Given the description of an element on the screen output the (x, y) to click on. 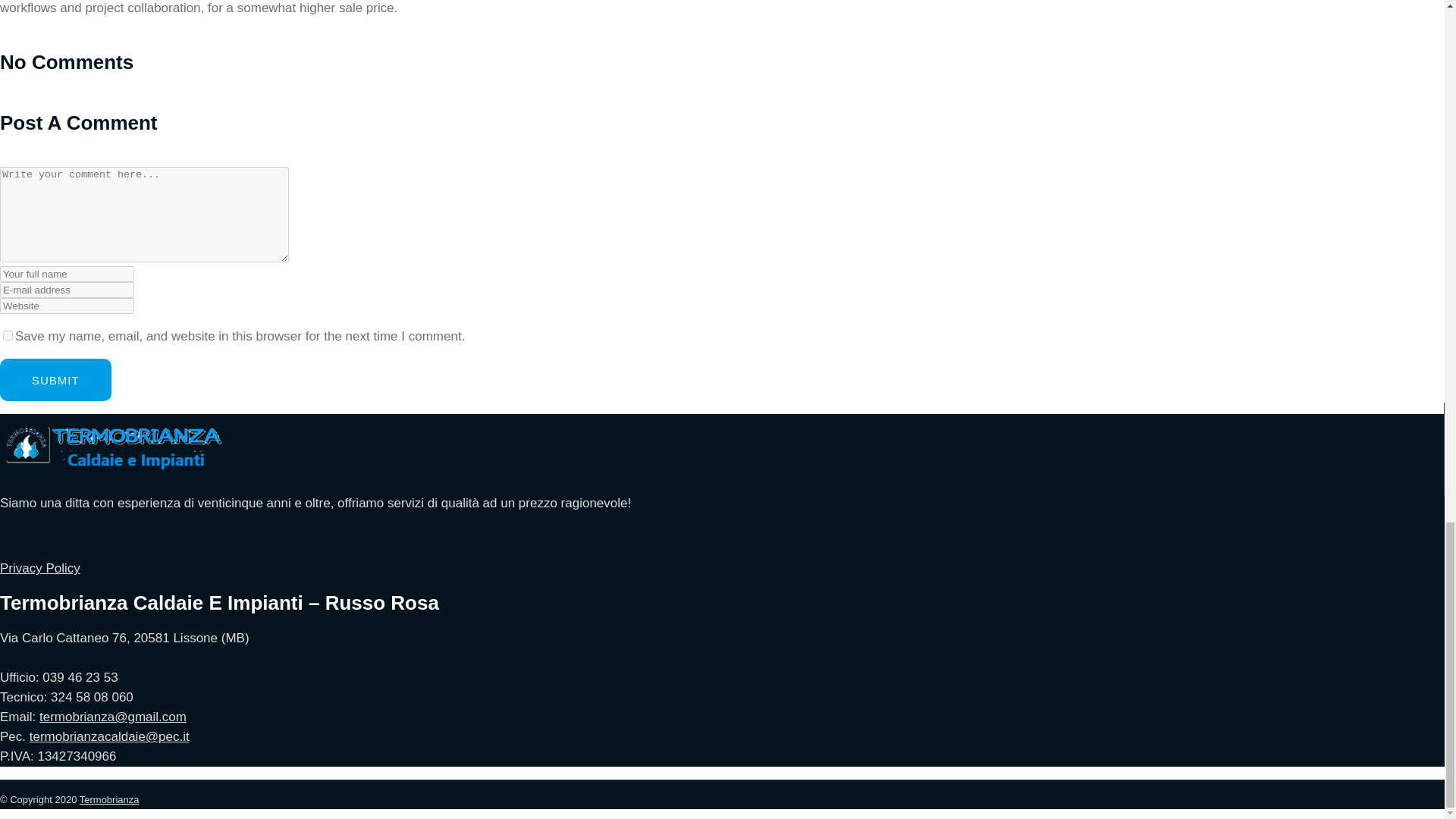
Termobrianza (109, 799)
Submit (56, 379)
Privacy Policy (40, 568)
Submit (56, 379)
yes (7, 335)
